Given the description of an element on the screen output the (x, y) to click on. 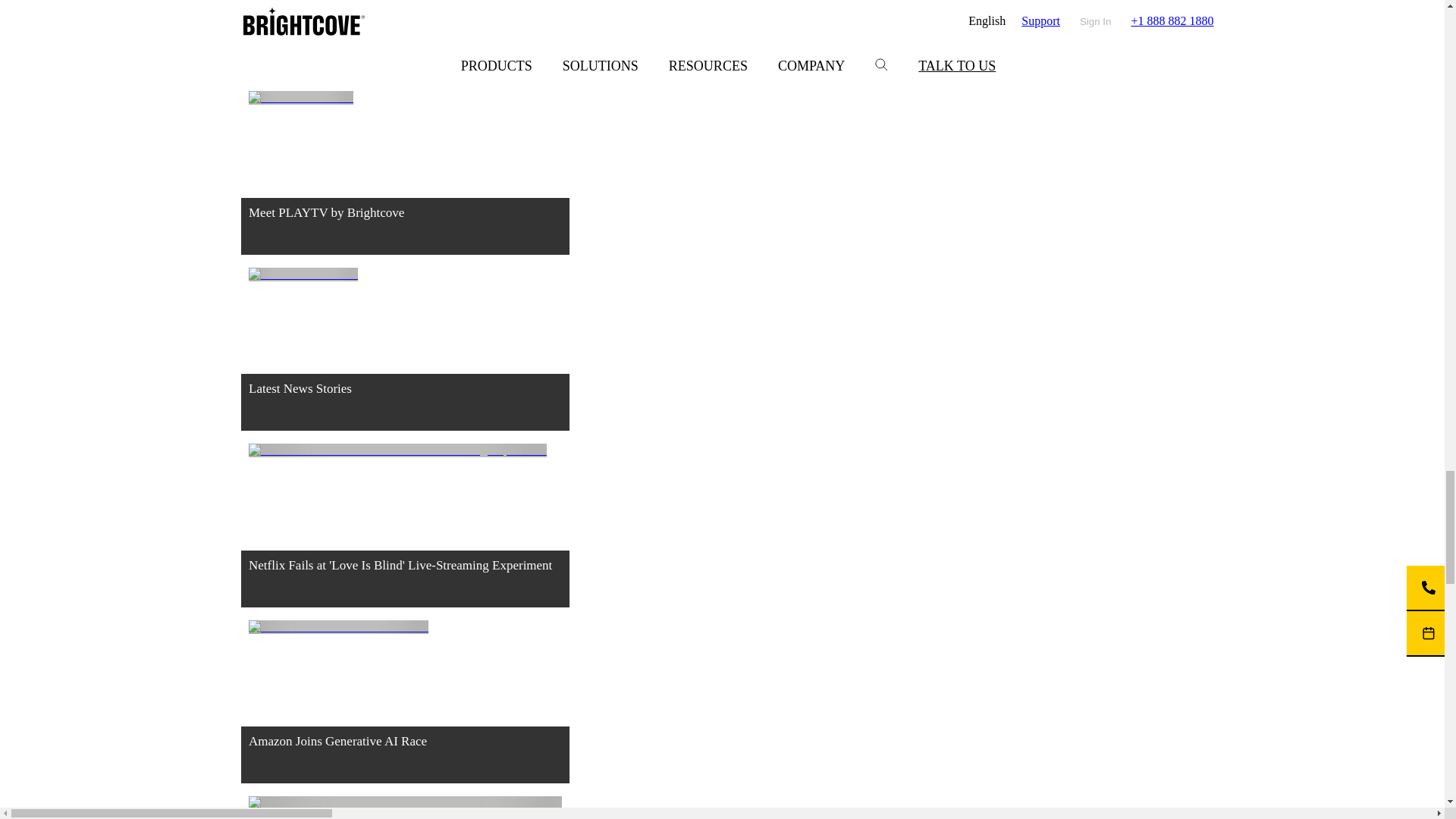
Meet PLAYTV by Brightcove (405, 178)
Where Gen Z Gets Its News: Social Media (405, 45)
Amazon Joins Generative AI Race (405, 707)
Fact Or Opinion: The Importance Of Understanding Your News (405, 807)
Latest News Stories (405, 355)
Netflix Fails at 'Love Is Blind' Live-Streaming Experiment (405, 531)
